Given the description of an element on the screen output the (x, y) to click on. 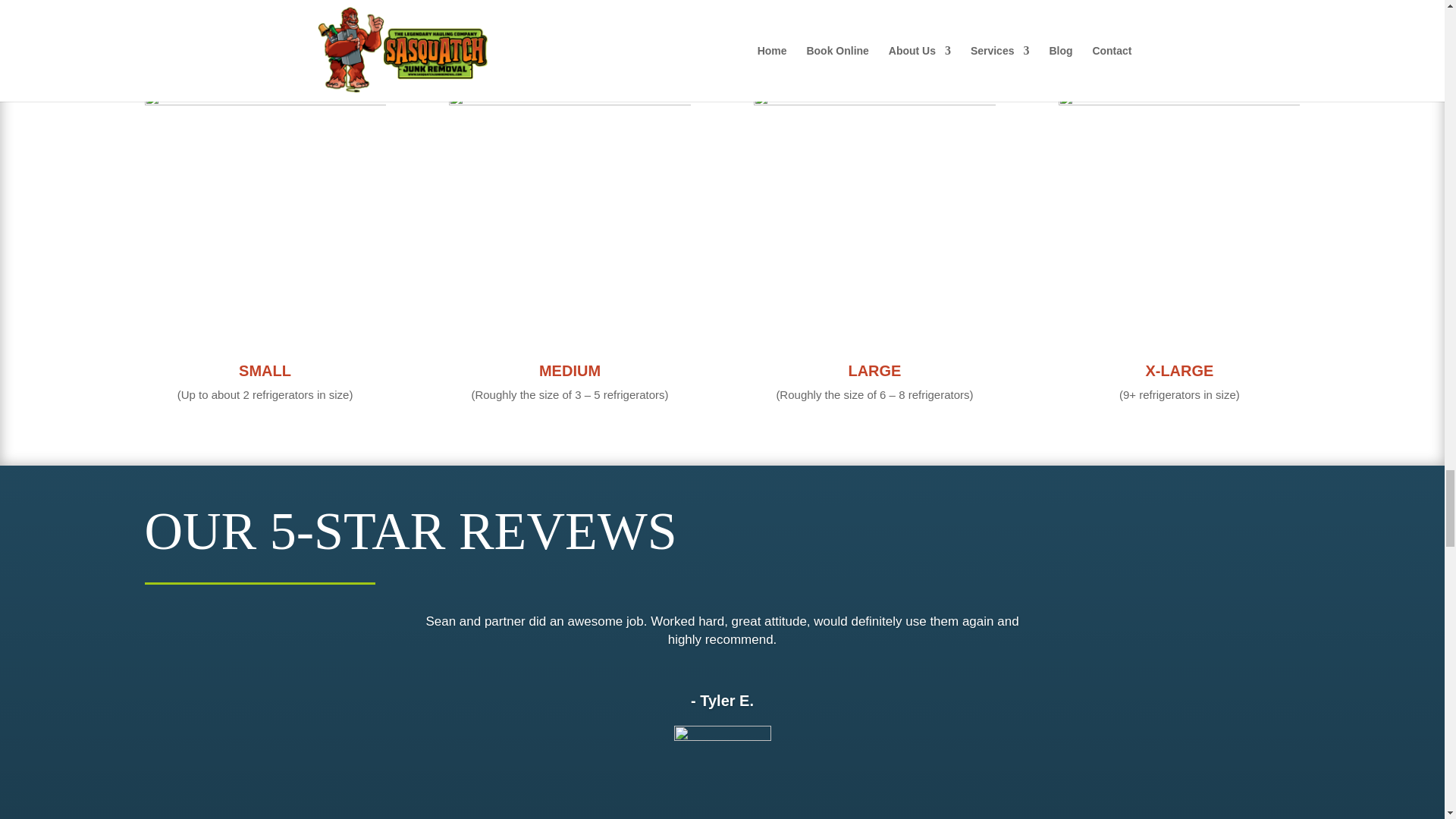
large-orange (874, 210)
Furniture Removal In Martha Lake, WA 1 (721, 741)
x-large-orange (1179, 210)
small-orange (264, 210)
medium-orange (569, 210)
